Given the description of an element on the screen output the (x, y) to click on. 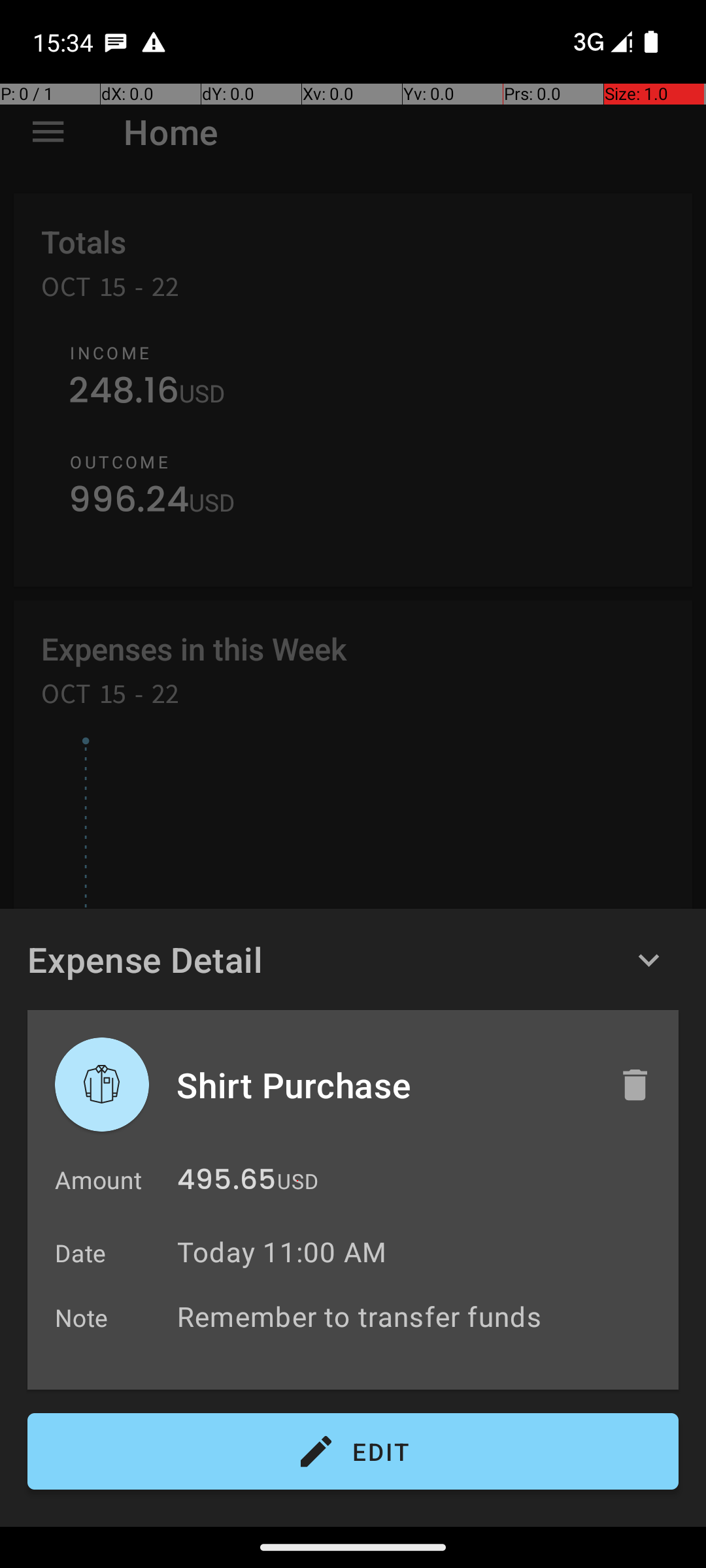
Shirt Purchase Element type: android.widget.TextView (383, 1084)
495.65 Element type: android.widget.TextView (226, 1182)
Today 11:00 AM Element type: android.widget.TextView (281, 1251)
Remember to transfer funds Element type: android.widget.TextView (420, 1315)
